Given the description of an element on the screen output the (x, y) to click on. 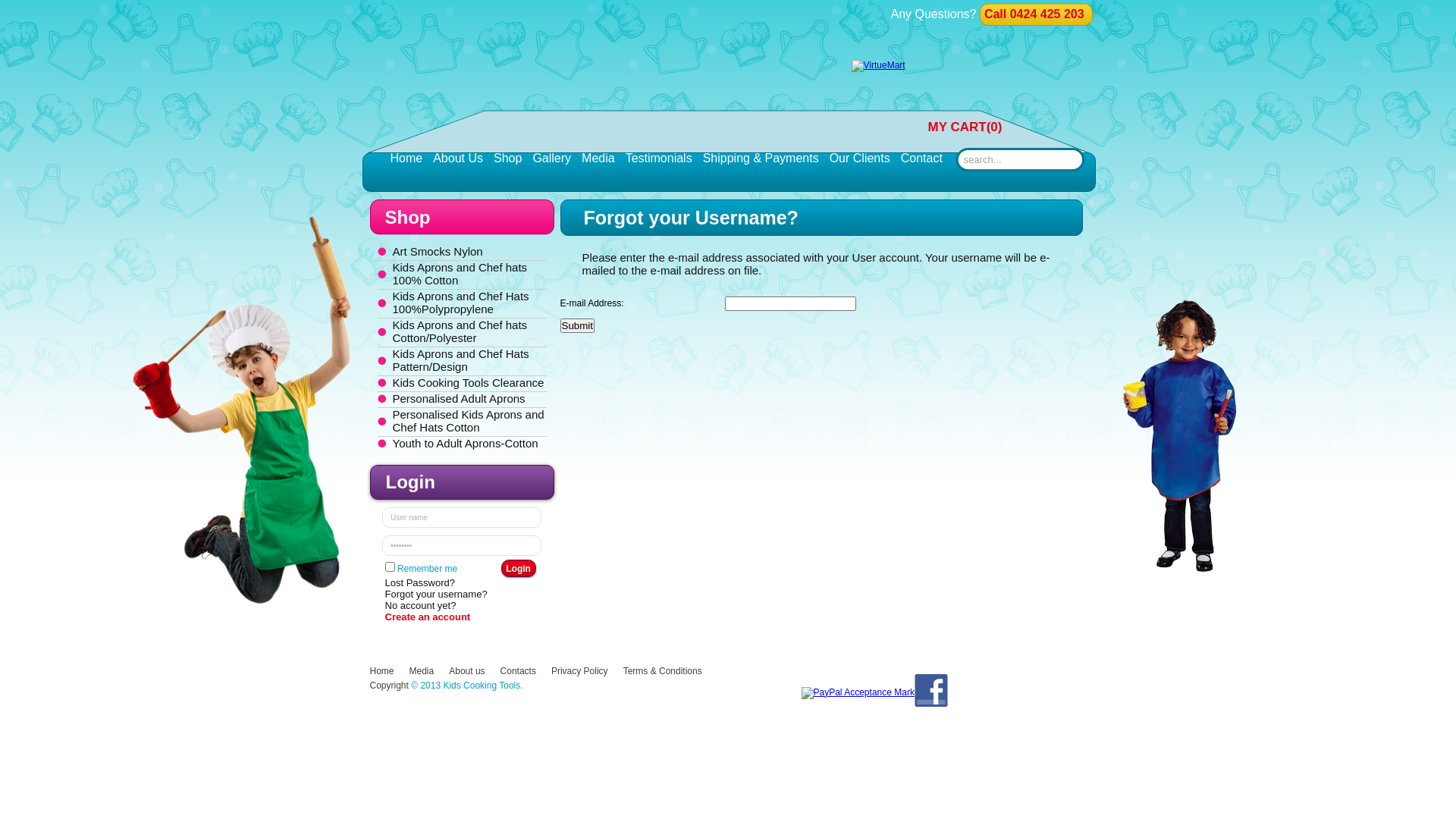
Forgot your username? Element type: text (462, 593)
Terms & Conditions Element type: text (662, 670)
Contact Element type: text (921, 157)
Kids Aprons and Chef hats 100% Cotton Element type: text (459, 273)
Personalised Adult Aprons Element type: text (458, 398)
Login Element type: text (518, 568)
Shop Element type: text (507, 157)
Art Smocks Nylon Element type: text (437, 250)
Media Element type: text (598, 157)
Kids Aprons and Chef Hats 100%Polypropylene Element type: text (460, 302)
Home Element type: text (382, 670)
Our Clients Element type: text (859, 157)
Youth to Adult Aprons-Cotton Element type: text (465, 442)
Home Element type: text (405, 157)
Kids Cooking Tools Clearance Element type: text (468, 382)
Kids Aprons and Chef Hats Pattern/Design Element type: text (460, 360)
About us Element type: text (466, 670)
Contacts Element type: text (518, 670)
Create an account Element type: text (462, 616)
Media Element type: text (421, 670)
Gallery Element type: text (551, 157)
Search Element type: hover (1020, 159)
Testimonials Element type: text (658, 157)
About Us Element type: text (458, 157)
Kids Aprons and Chef hats Cotton/Polyester Element type: text (459, 331)
Submit Element type: text (576, 325)
Privacy Policy Element type: text (579, 670)
Personalised Kids Aprons and Chef Hats Cotton Element type: text (468, 420)
Lost Password? Element type: text (462, 582)
Shipping & Payments Element type: text (760, 157)
How PayPal Works Element type: hover (856, 692)
